Given the description of an element on the screen output the (x, y) to click on. 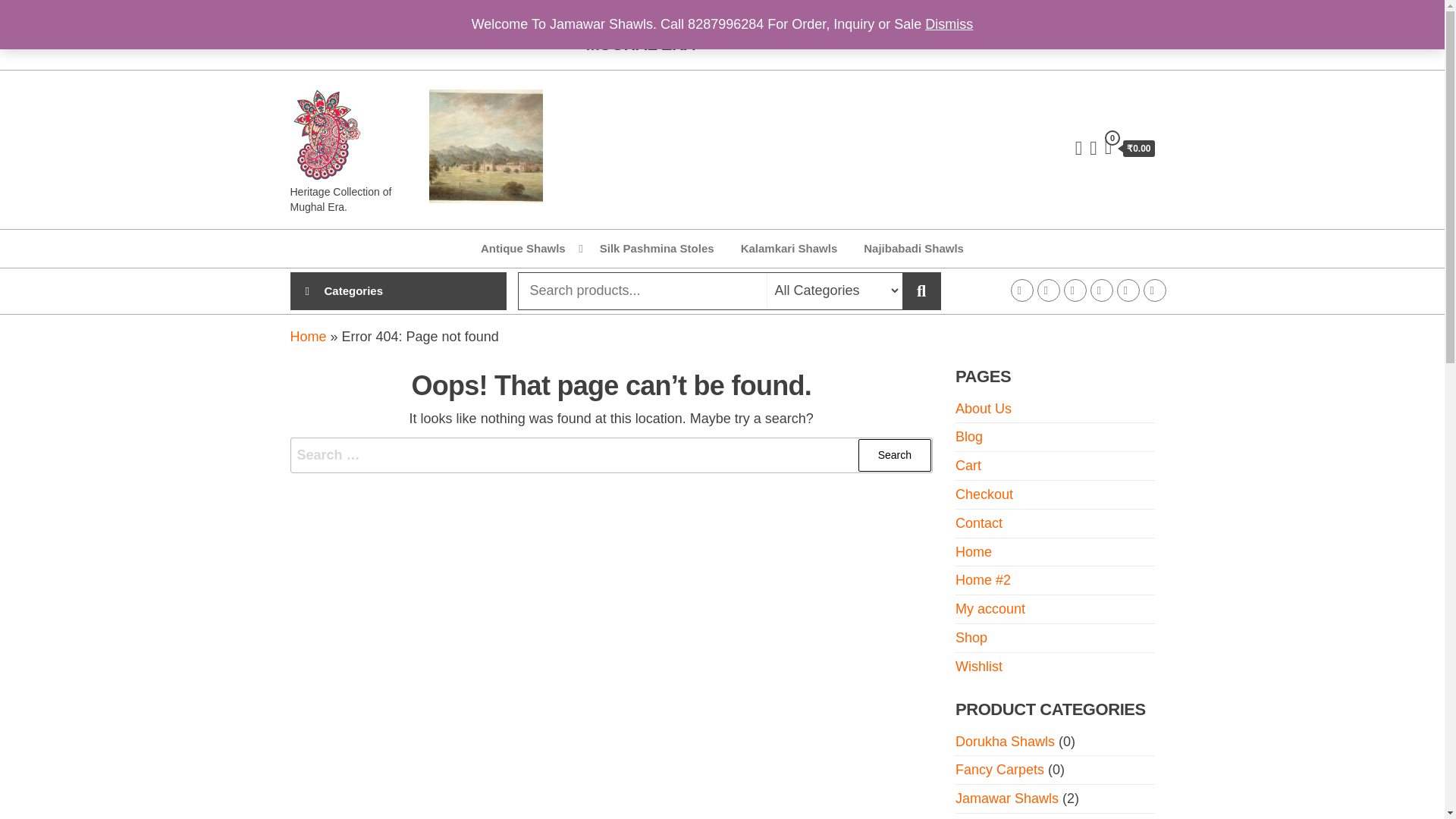
Cart (968, 465)
Cart (1129, 149)
Shop (971, 637)
Antique Shawls (526, 248)
Wishlist (979, 666)
Fancy Carpets (999, 769)
Silk Pashmina Stoles (656, 248)
Facebook (1021, 290)
Youtube (1101, 290)
Najibabadi Shawls (913, 248)
